Given the description of an element on the screen output the (x, y) to click on. 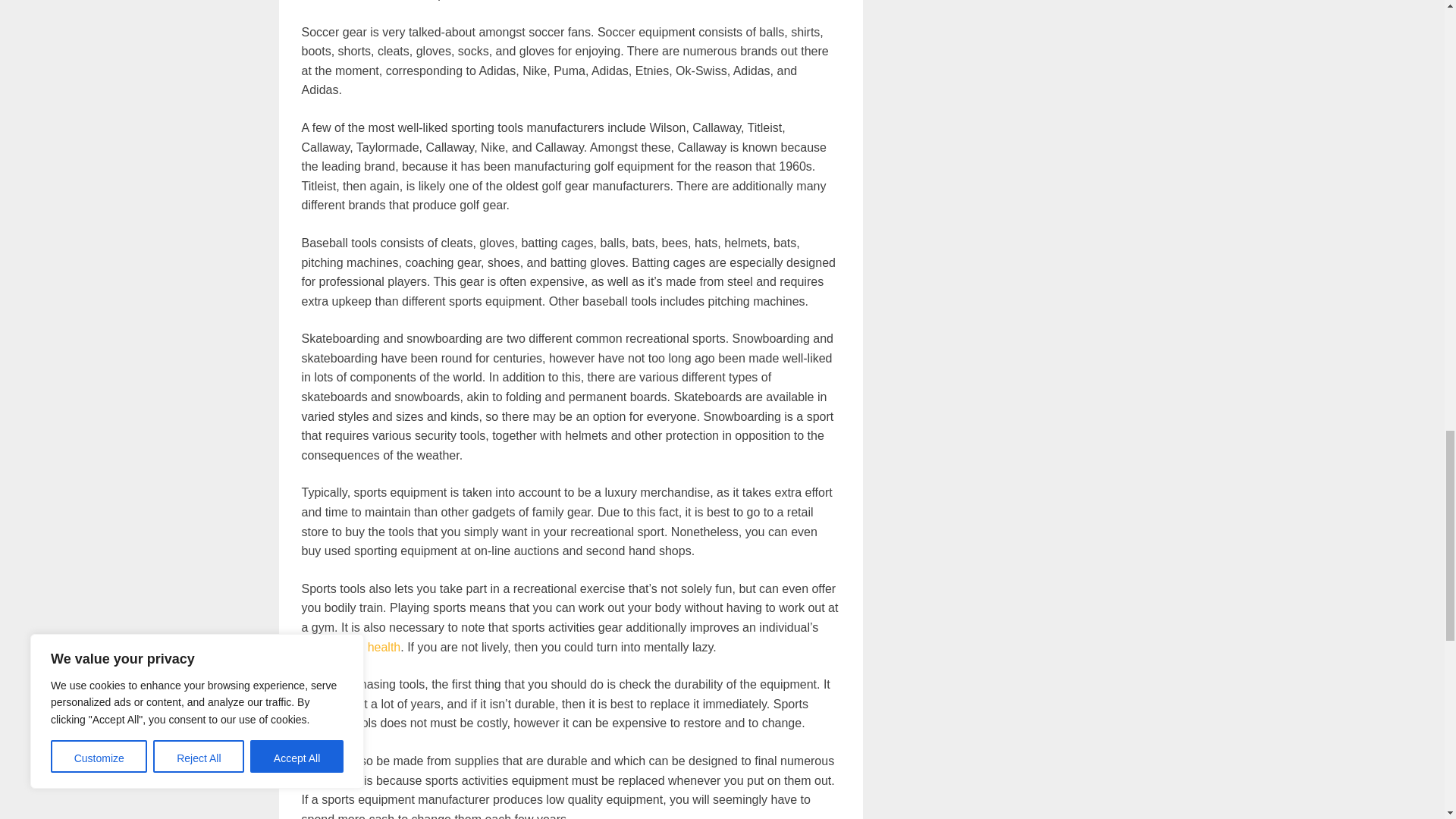
mental health (363, 646)
